Given the description of an element on the screen output the (x, y) to click on. 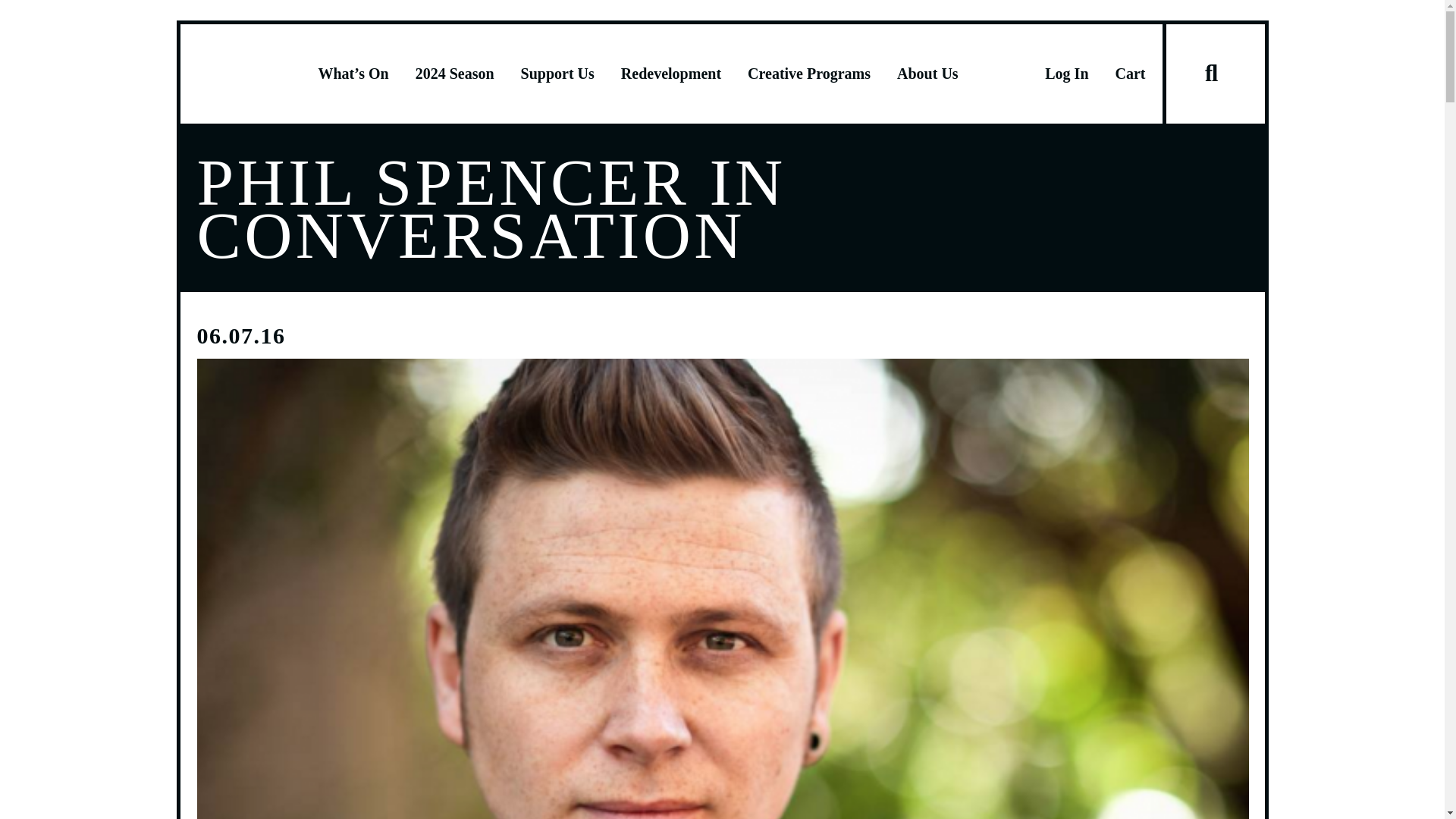
Log In (1066, 73)
Redevelopment (670, 73)
Creative Programs (809, 73)
About Us (927, 73)
2024 Season (454, 73)
Cart (1130, 73)
Support Us (557, 73)
